Given the description of an element on the screen output the (x, y) to click on. 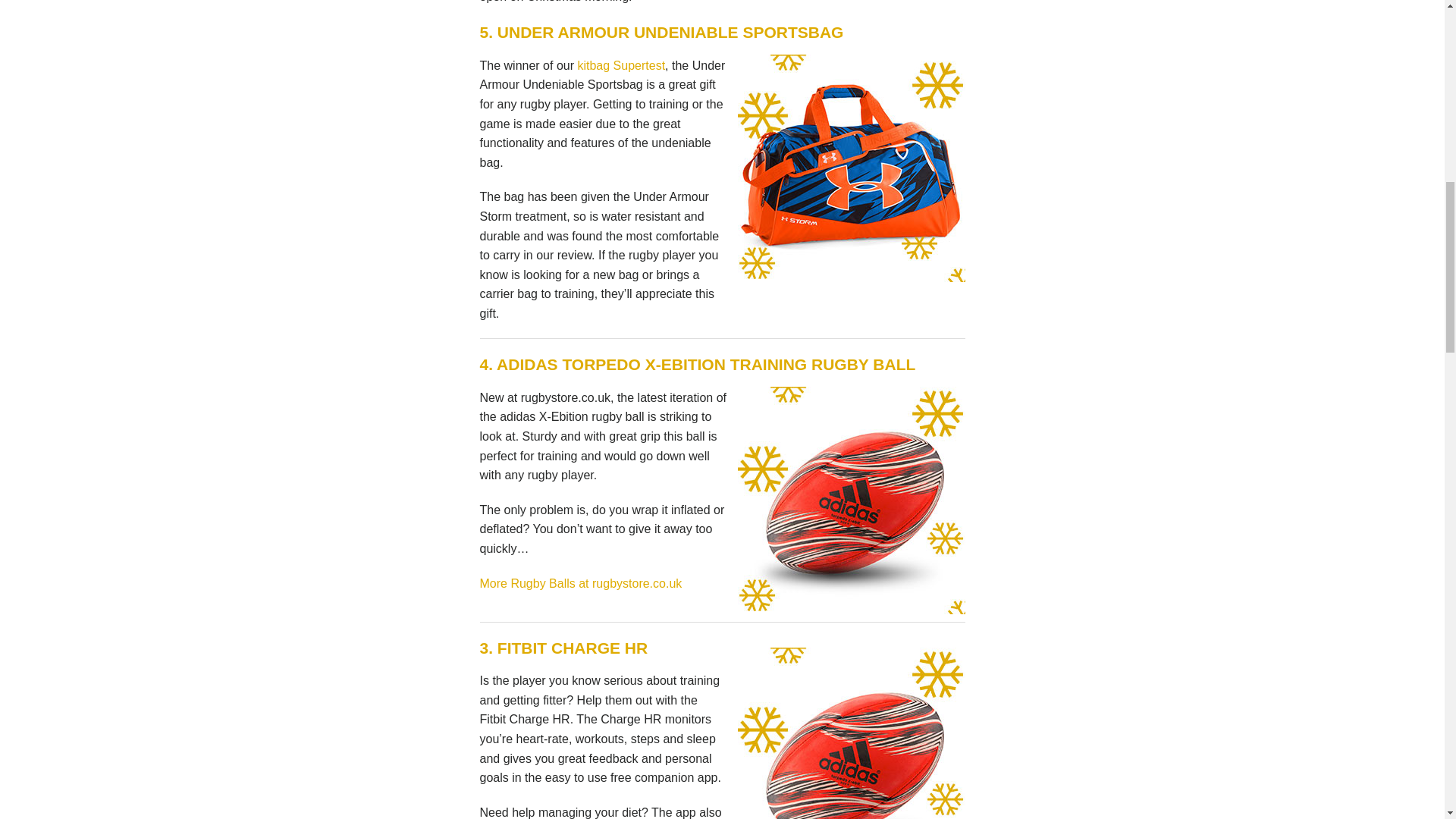
More Rugby Balls at rugbystore.co.uk  (581, 583)
5. UNDER ARMOUR UNDENIABLE SPORTSBAG (661, 31)
4. ADIDAS TORPEDO X-EBITION TRAINING RUGBY BALL (696, 364)
3. FITBIT CHARGE HR (563, 647)
kitbag Supertest (620, 65)
